Given the description of an element on the screen output the (x, y) to click on. 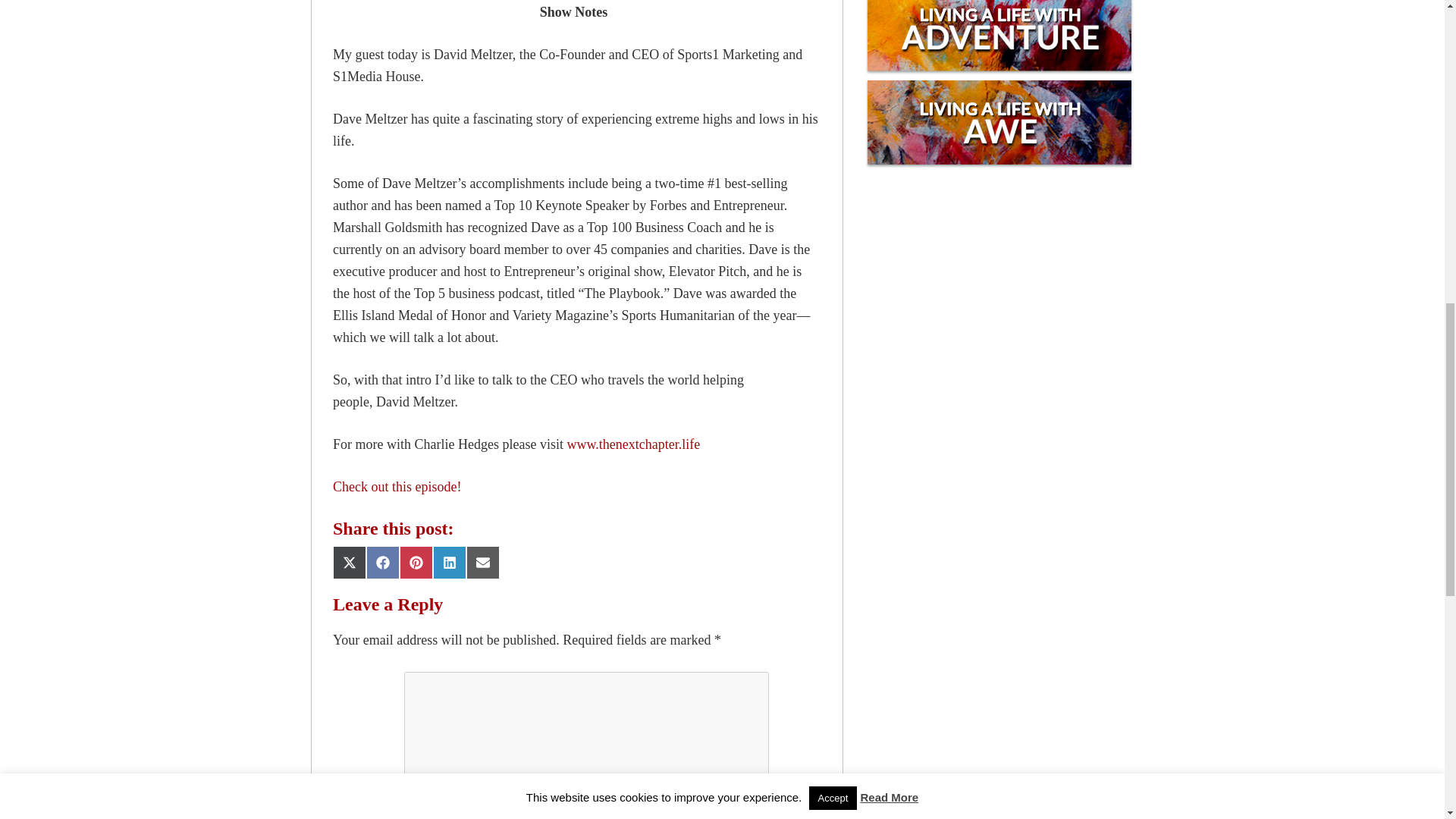
Share on Facebook (382, 562)
Share on LinkedIn (448, 562)
Share on Email (482, 562)
www.thenextchapter.life (633, 444)
Share on Pinterest (415, 562)
Check out this episode! (397, 486)
